Given the description of an element on the screen output the (x, y) to click on. 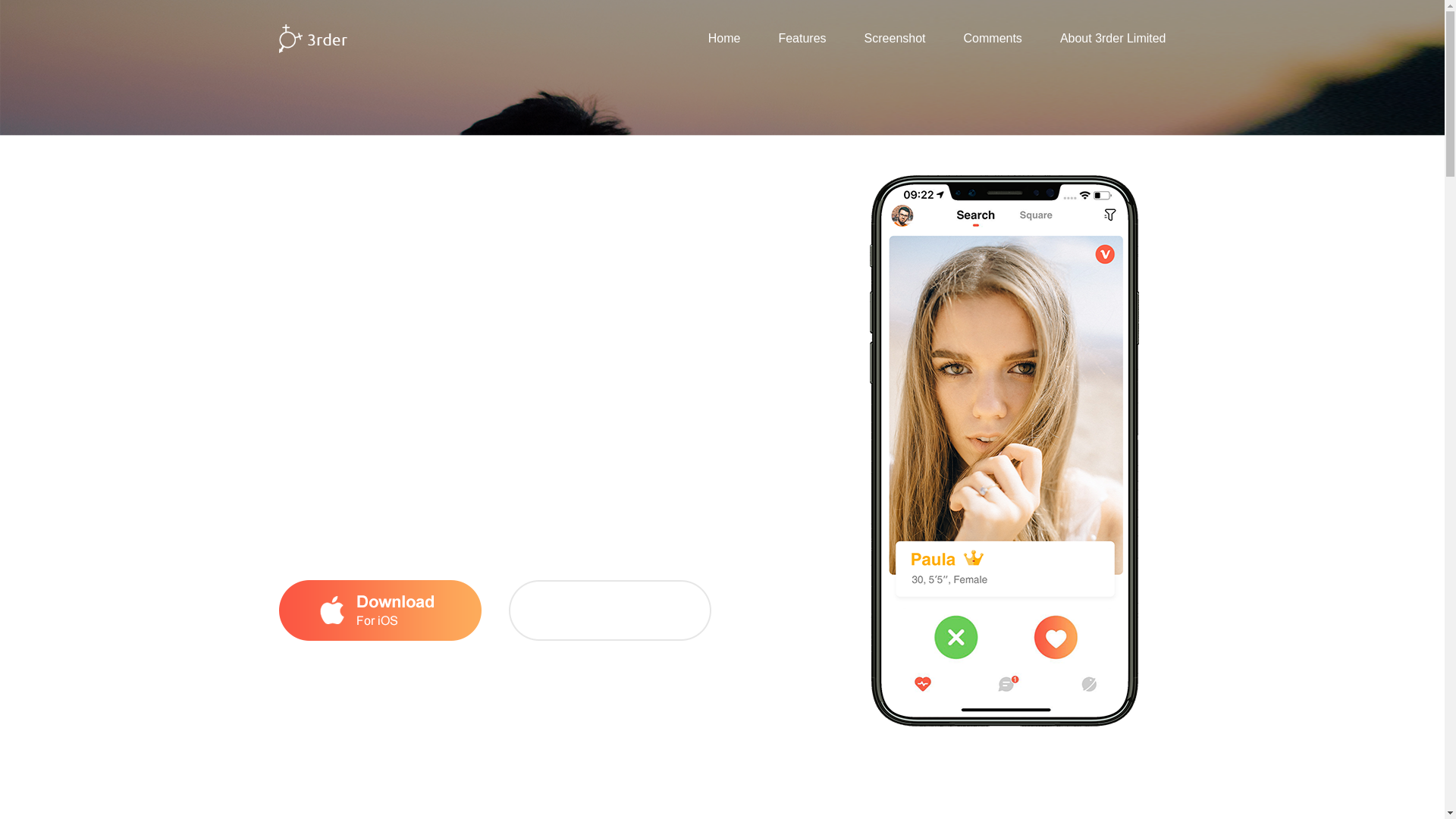
Home (724, 38)
Features (801, 38)
Comments (992, 38)
Home (724, 38)
Features (801, 38)
Comments (992, 38)
Screenshot (895, 38)
Screenshot (895, 38)
Comments (1112, 38)
About 3rder Limited (1112, 38)
